Given the description of an element on the screen output the (x, y) to click on. 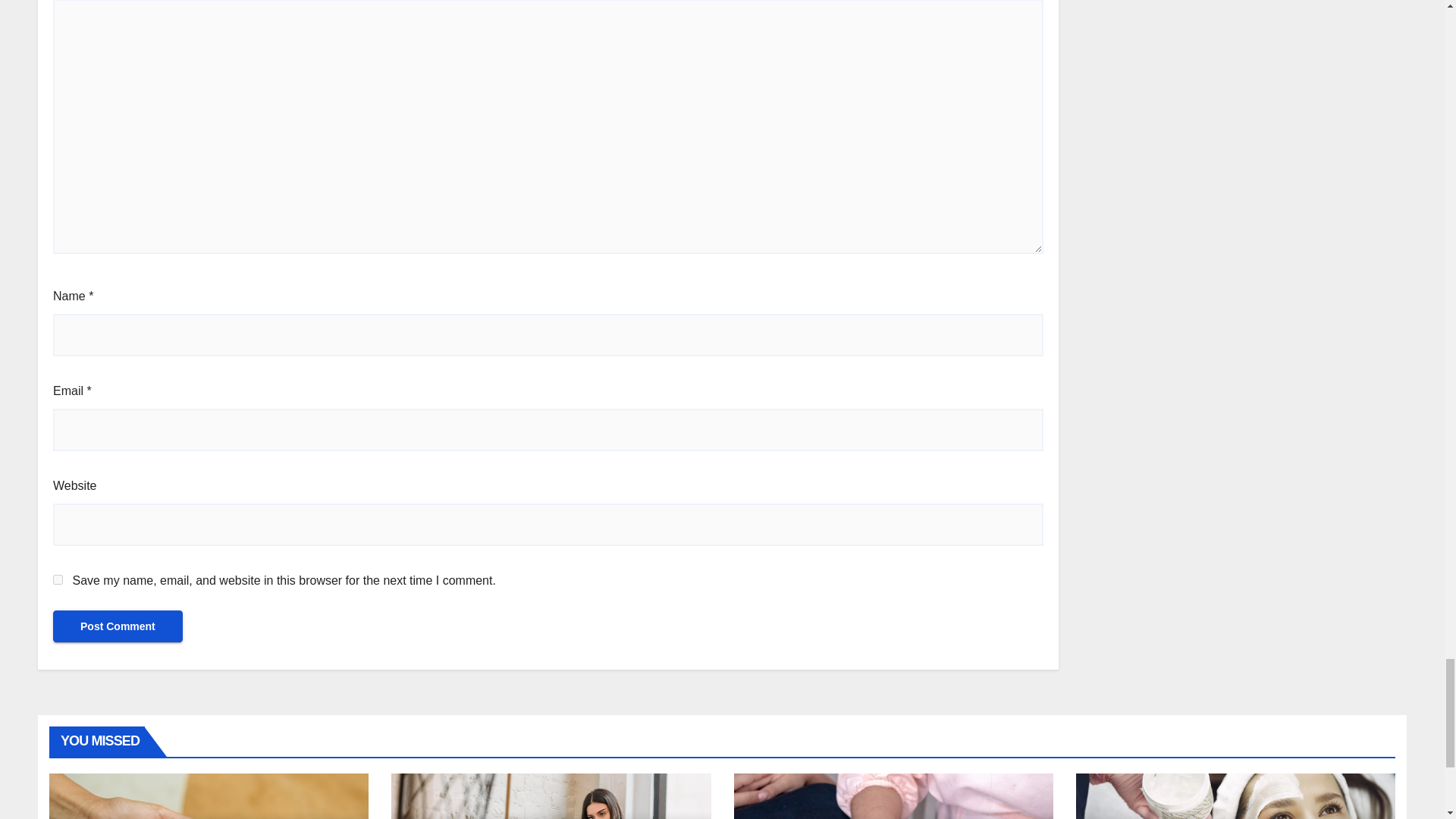
Post Comment (117, 626)
yes (57, 579)
